Given the description of an element on the screen output the (x, y) to click on. 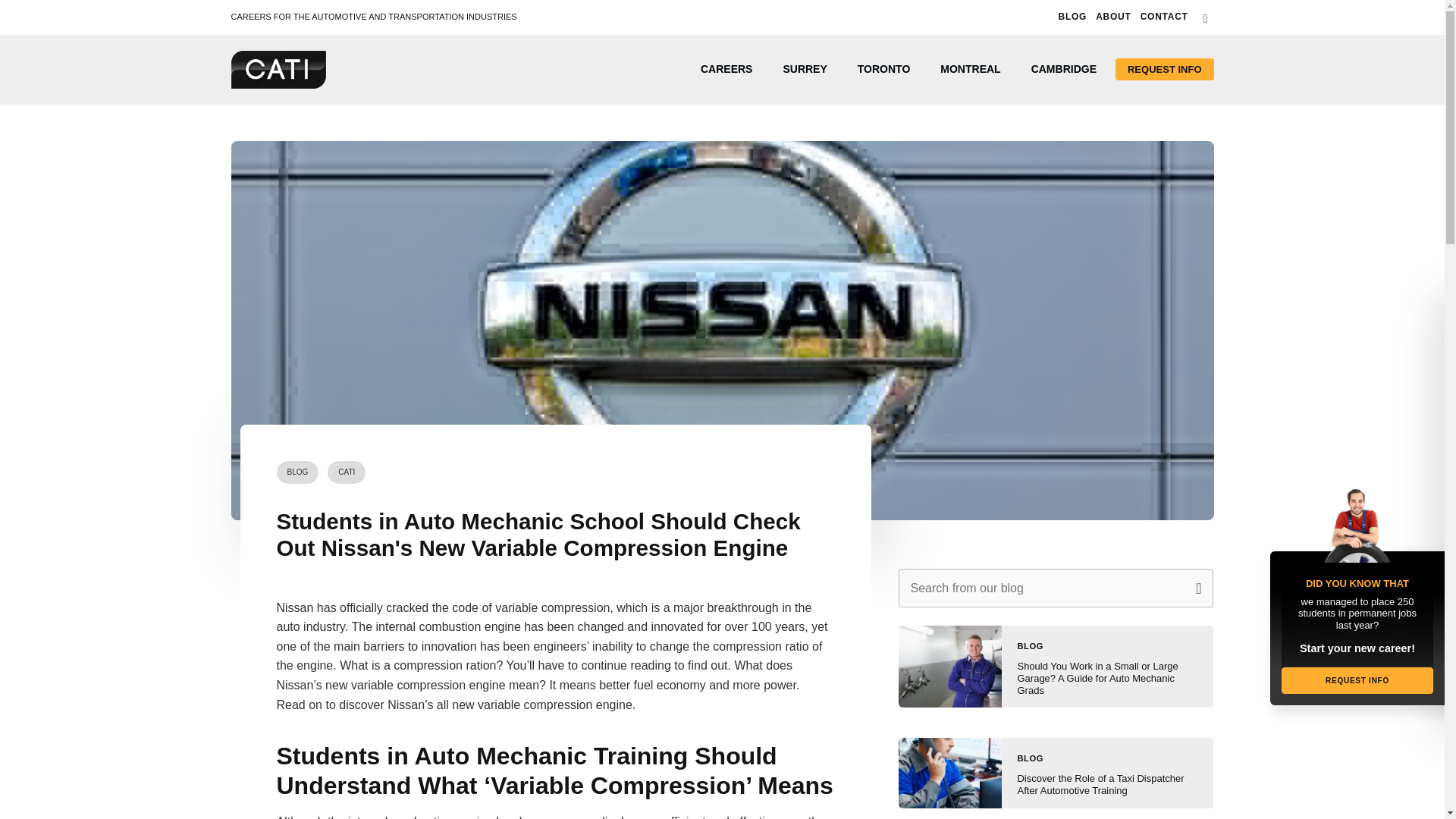
ABOUT (1113, 17)
REQUEST INFO (1164, 69)
Contact (1164, 17)
MONTREAL (969, 69)
About (1113, 17)
Blog (1072, 17)
Careers (726, 69)
SURREY (804, 69)
CAMBRIDGE (1064, 69)
